Given the description of an element on the screen output the (x, y) to click on. 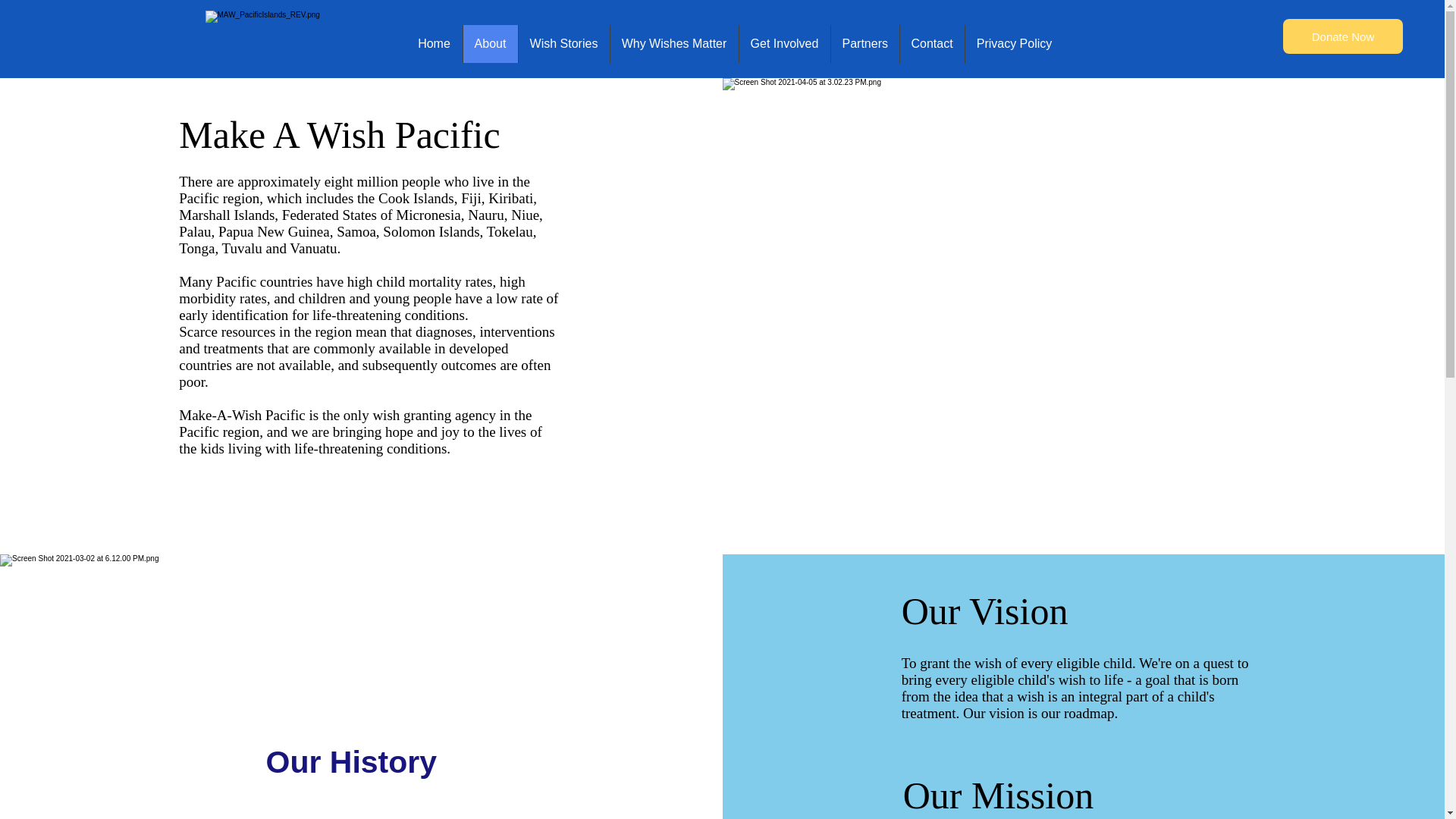
Get Involved (783, 44)
Home (434, 44)
Privacy Policy (1013, 44)
Why Wishes Matter (674, 44)
Donate Now (1342, 36)
Contact (931, 44)
Wish Stories (562, 44)
About (490, 44)
Partners (863, 44)
